Given the description of an element on the screen output the (x, y) to click on. 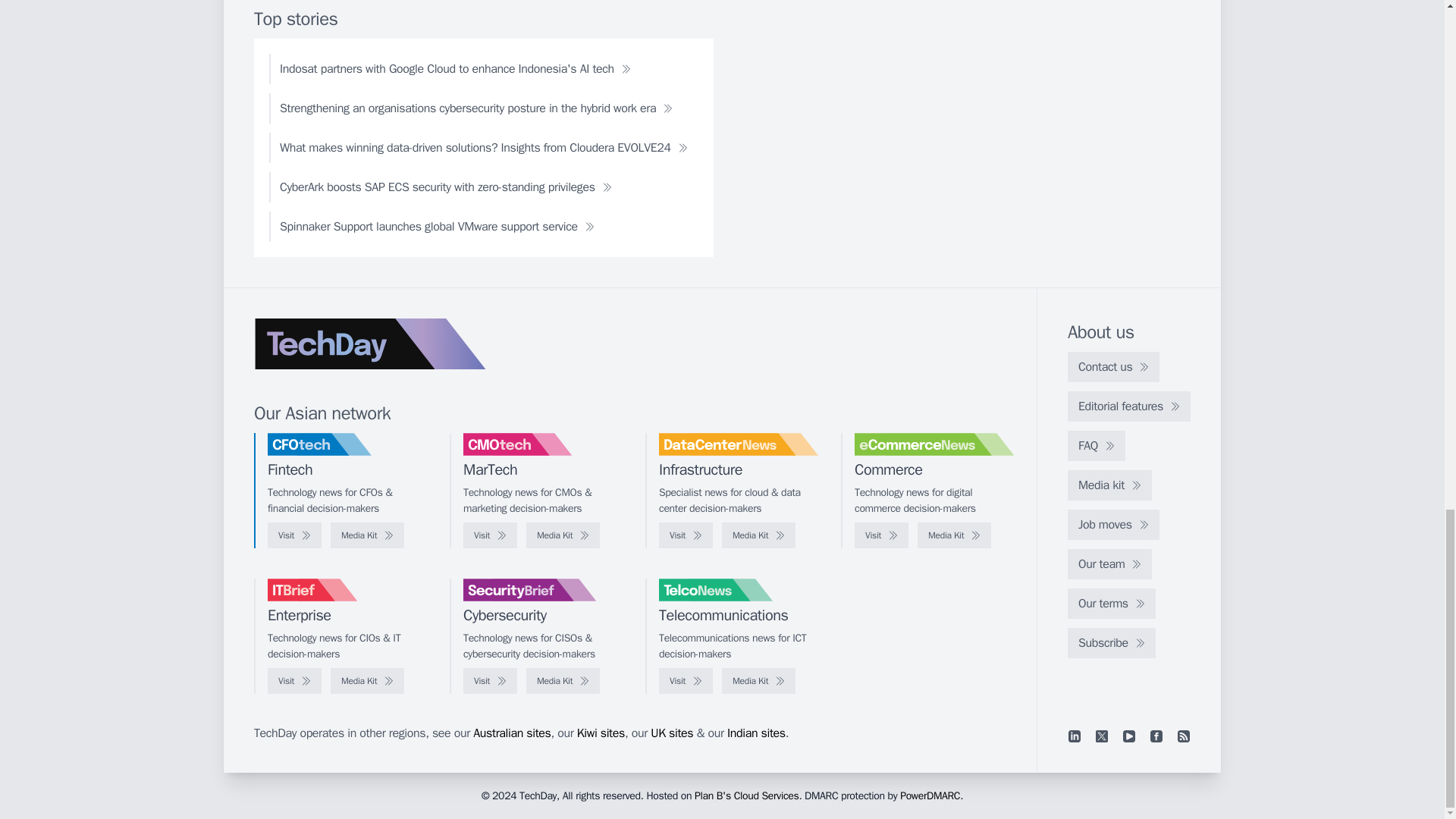
Media Kit (562, 534)
Media Kit (954, 534)
Visit (881, 534)
Media Kit (758, 534)
Visit (489, 534)
Visit (294, 534)
Visit (686, 534)
